Given the description of an element on the screen output the (x, y) to click on. 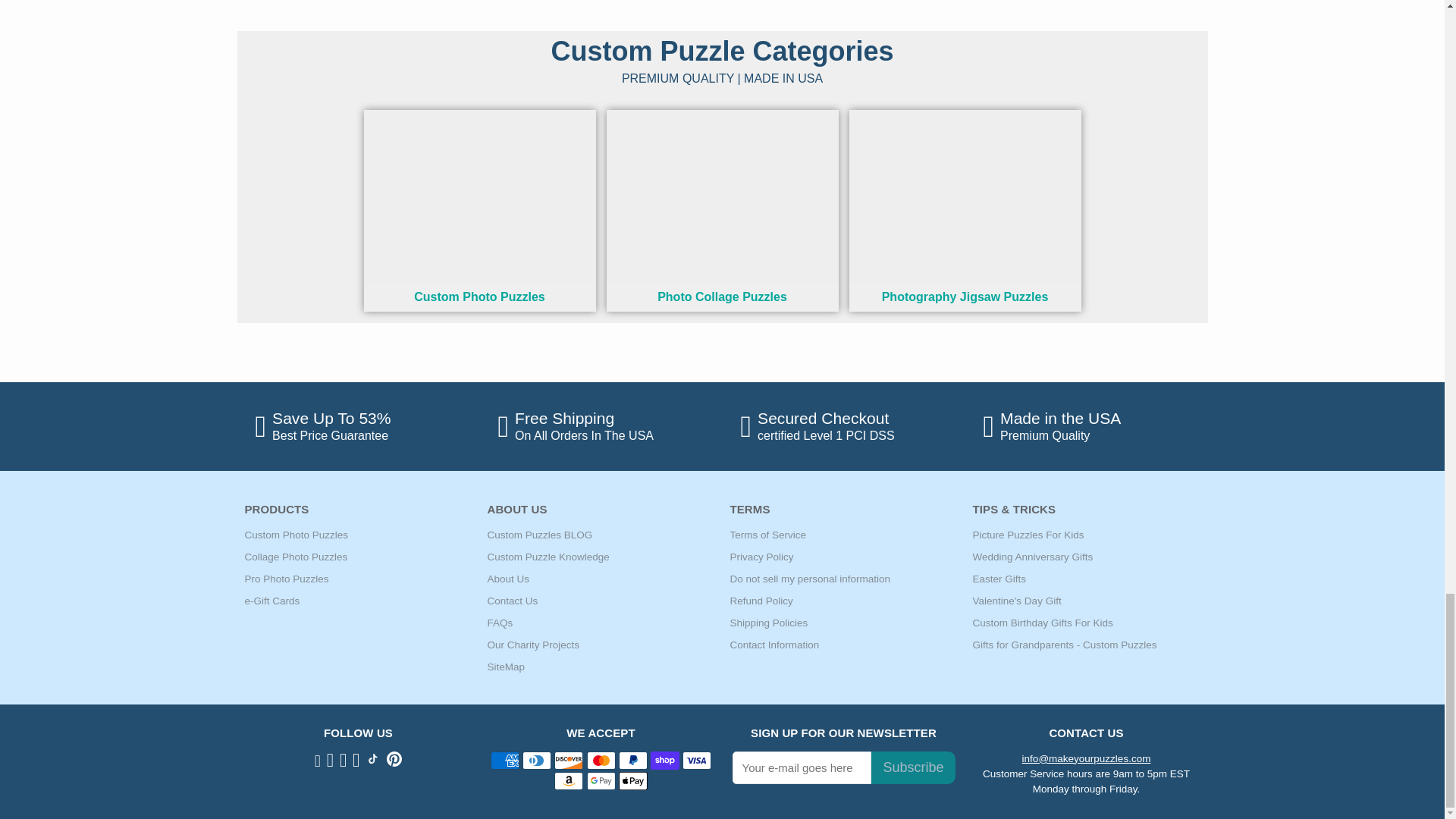
Discover (568, 760)
PayPal (632, 760)
Visa (696, 760)
Mastercard (600, 760)
American Express (504, 760)
Apple Pay (632, 781)
Diners Club (536, 760)
Shop Pay (664, 760)
Google Pay (600, 781)
Amazon (568, 781)
